Given the description of an element on the screen output the (x, y) to click on. 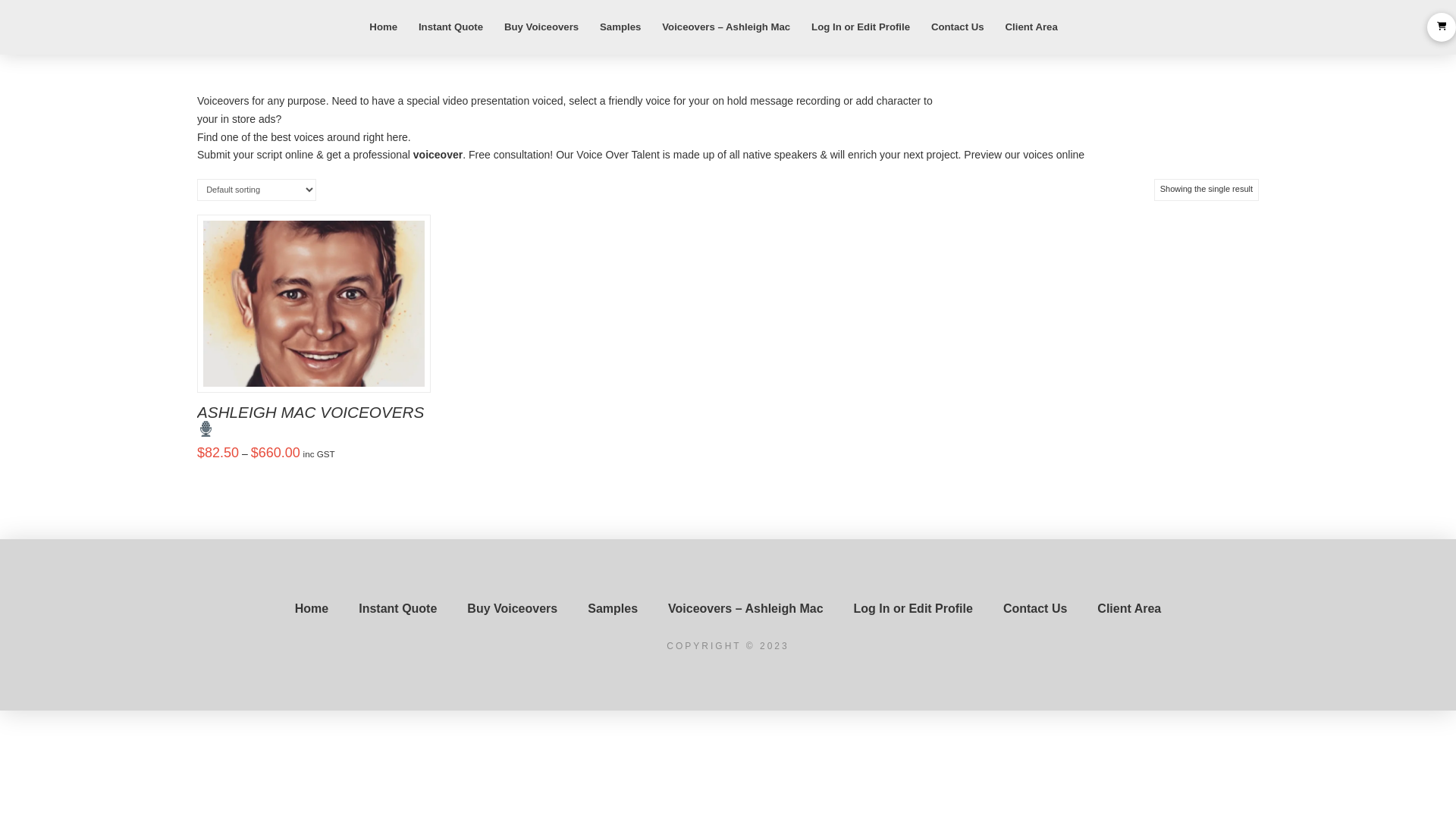
Buy Voiceovers Element type: text (511, 608)
Log In or Edit Profile Element type: text (913, 608)
Samples Element type: text (620, 27)
Instant Quote Element type: text (397, 608)
Client Area Element type: text (1031, 27)
Contact Us Element type: text (1035, 608)
Instant Quote Element type: text (450, 27)
Client Area Element type: text (1129, 608)
Contact Us Element type: text (957, 27)
ASHLEIGH MAC VOICEOVERS Element type: text (310, 420)
Samples Element type: text (612, 608)
Buy Voiceovers Element type: text (541, 27)
Log In or Edit Profile Element type: text (860, 27)
Home Element type: text (311, 608)
Home Element type: text (382, 27)
